Given the description of an element on the screen output the (x, y) to click on. 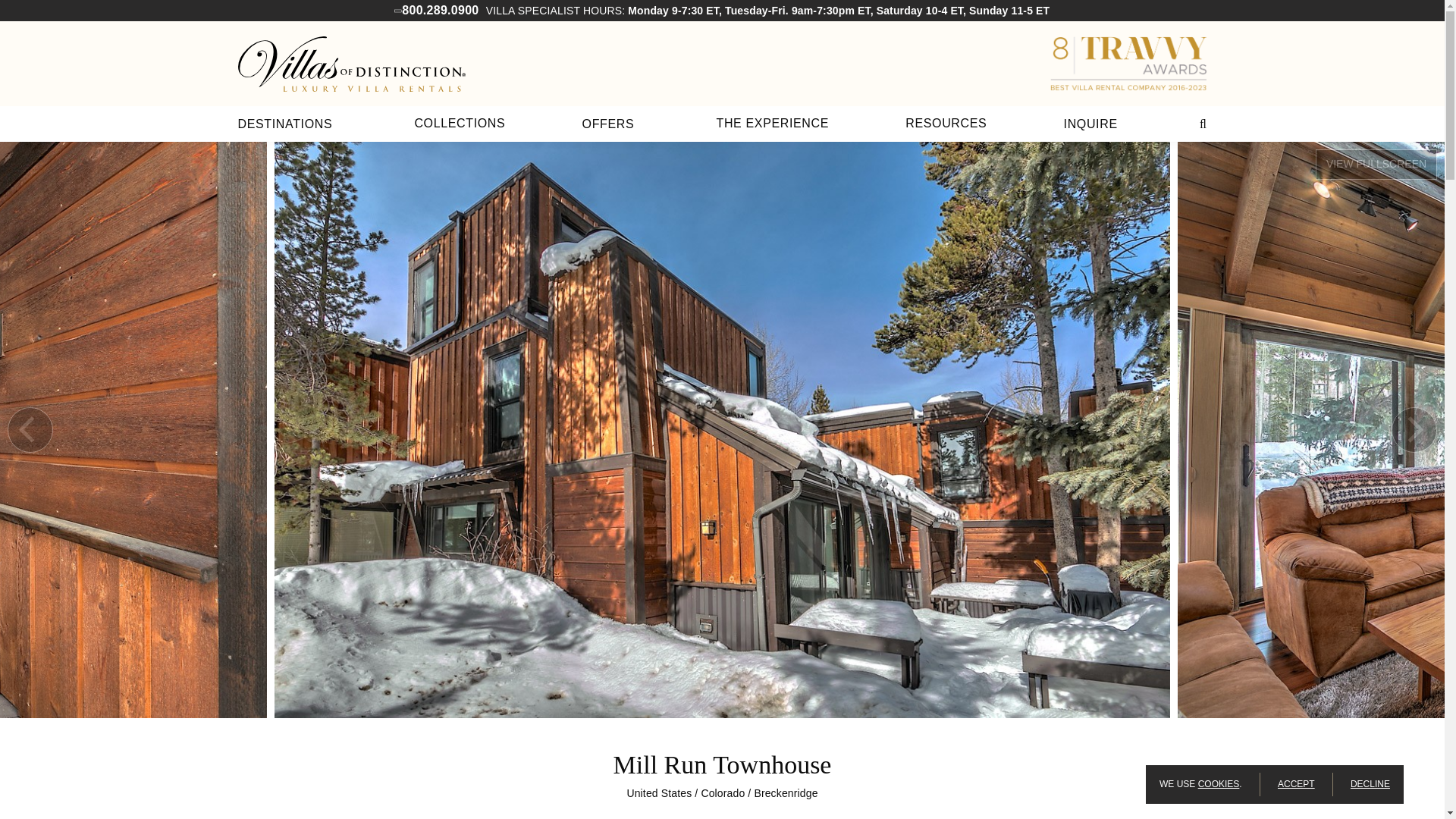
800.289.0900 (440, 10)
DESTINATIONS (285, 123)
OFFERS (608, 123)
COLLECTIONS (459, 123)
THE EXPERIENCE (772, 123)
View full-screen (1376, 163)
